Given the description of an element on the screen output the (x, y) to click on. 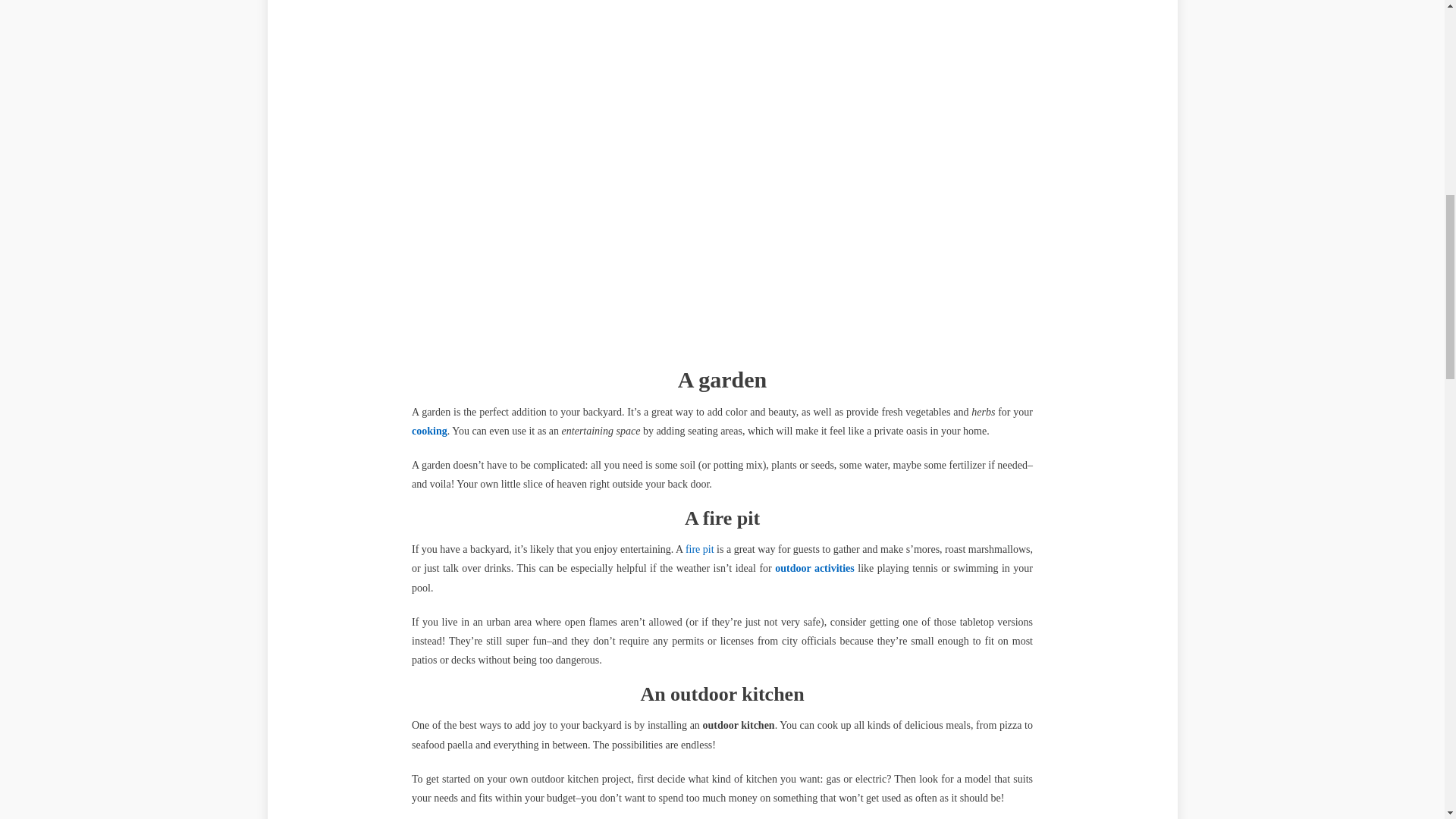
fire pit (699, 549)
cooking (429, 430)
outdoor activities (814, 568)
